Given the description of an element on the screen output the (x, y) to click on. 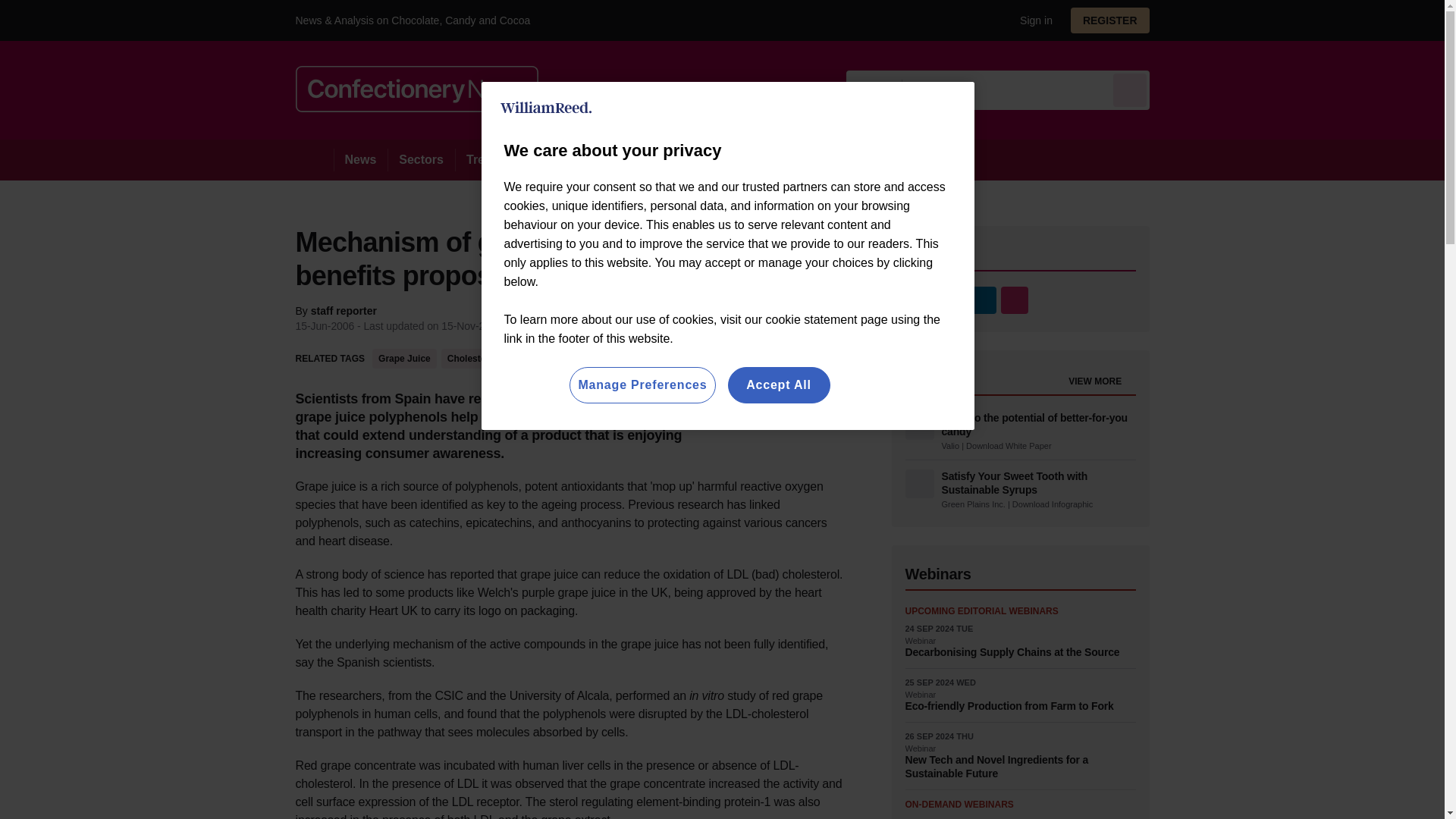
Send (1129, 89)
My account (1114, 20)
William Reed (545, 107)
ConfectioneryNews (416, 89)
Sectors (420, 159)
Send (1129, 90)
Sign in (1029, 20)
Sign out (1032, 20)
REGISTER (1110, 20)
Home (313, 159)
Home (314, 159)
News (360, 159)
Trends (485, 159)
